Given the description of an element on the screen output the (x, y) to click on. 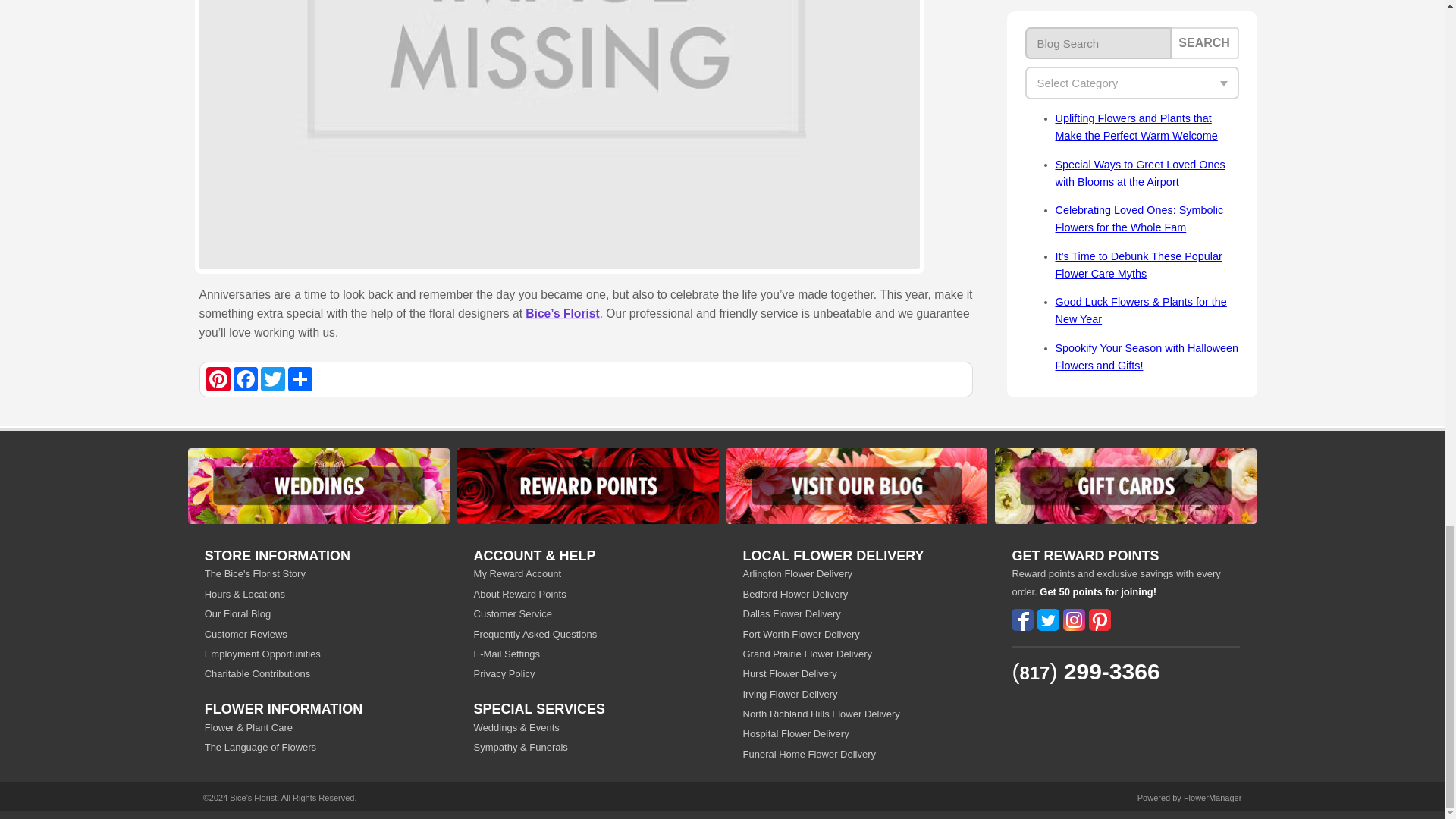
Twitter (272, 378)
Twitter (272, 378)
Pinterest (218, 378)
The Bice's Florist Story (318, 573)
Pinterest (218, 378)
Facebook (245, 378)
Facebook (245, 378)
Share (300, 378)
